Given the description of an element on the screen output the (x, y) to click on. 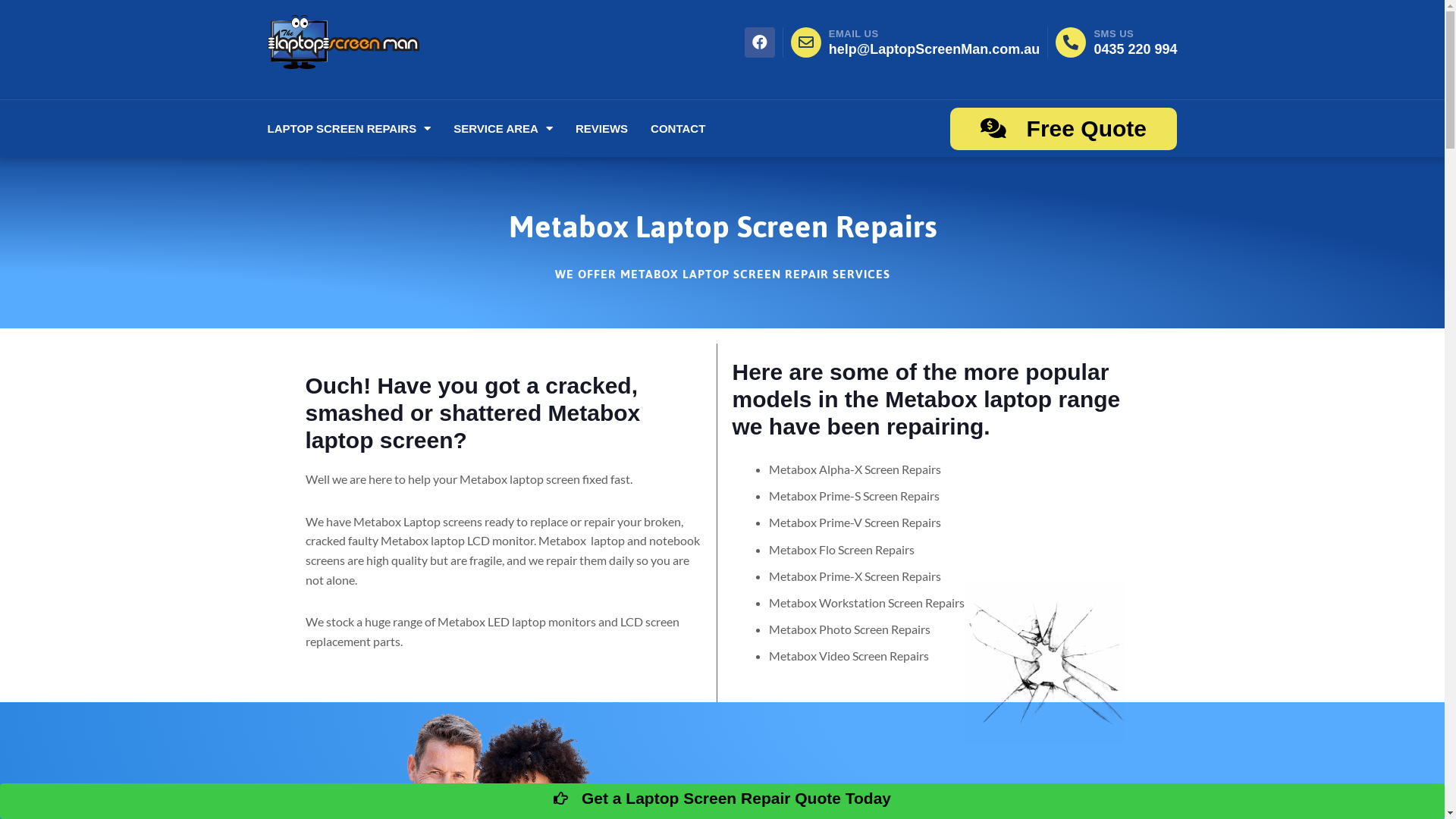
REVIEWS Element type: text (601, 128)
SMS US Element type: text (1113, 32)
CONTACT Element type: text (677, 128)
LAPTOP SCREEN REPAIRS Element type: text (348, 128)
SERVICE AREA Element type: text (502, 128)
Free Quote Element type: text (1063, 128)
EMAIL US Element type: text (853, 32)
Facebook Element type: text (759, 42)
